Given the description of an element on the screen output the (x, y) to click on. 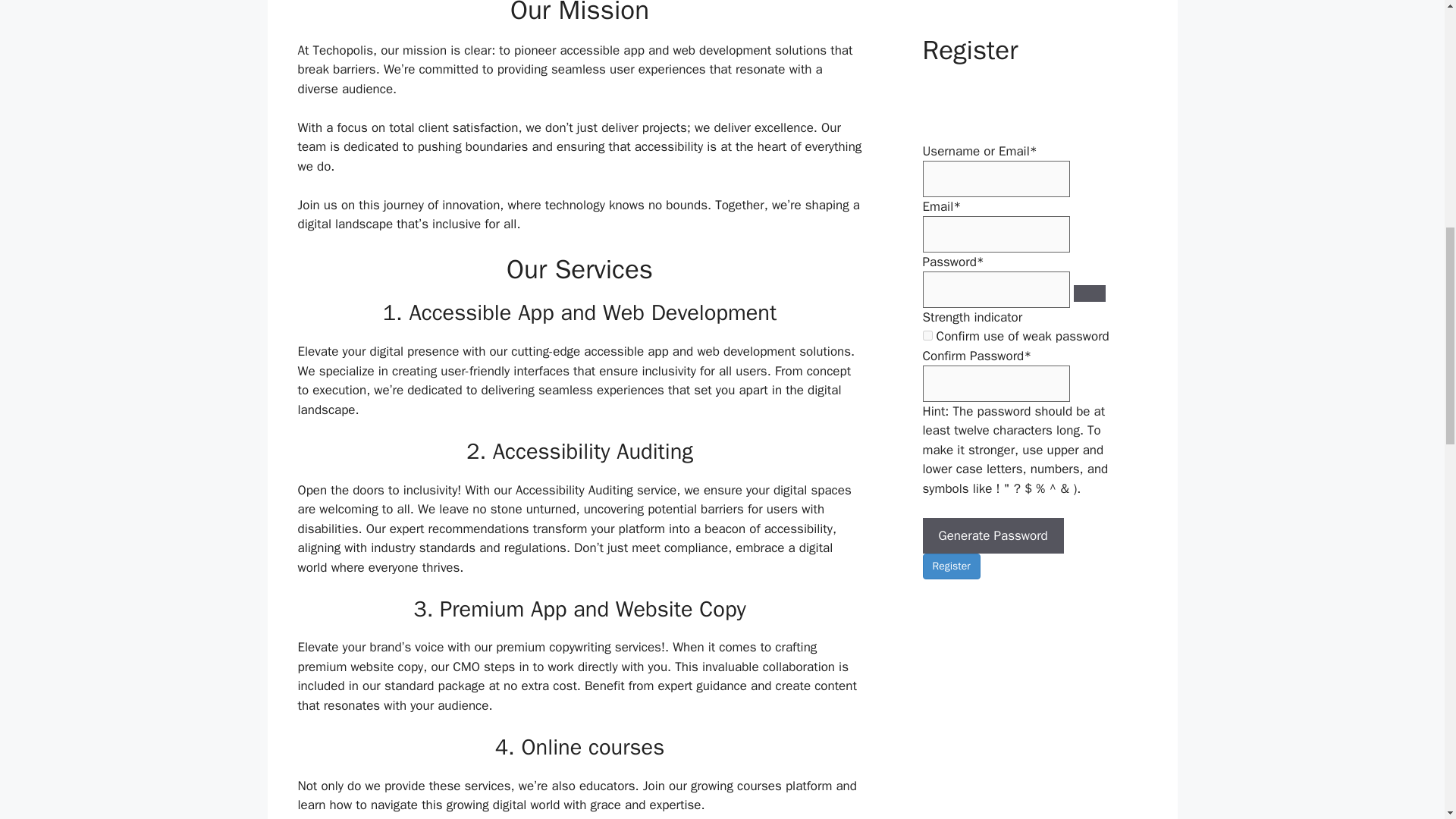
Register (950, 566)
on (926, 335)
Generate Password (991, 535)
Register (950, 566)
